Given the description of an element on the screen output the (x, y) to click on. 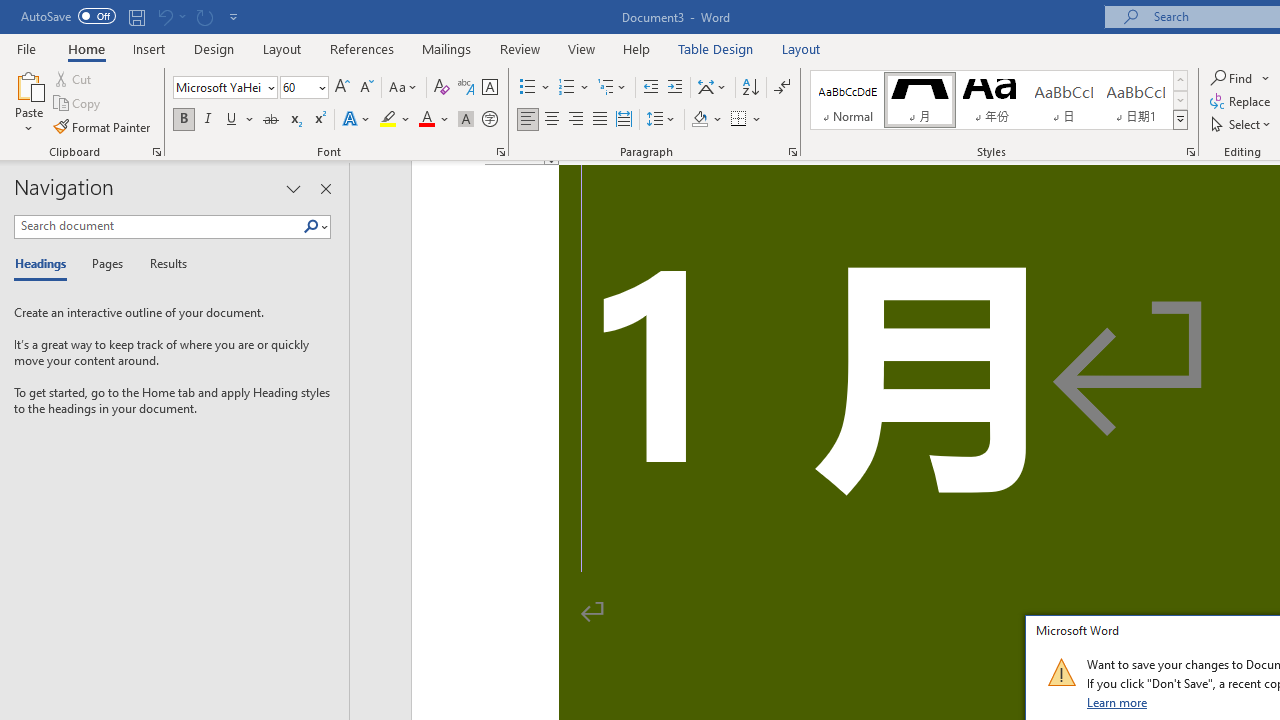
Layout (801, 48)
Shrink Font (365, 87)
File Tab (26, 48)
Font Size (304, 87)
Can't Undo (164, 15)
Find (1233, 78)
Styles (1179, 120)
Font Color (434, 119)
Save (136, 15)
